Given the description of an element on the screen output the (x, y) to click on. 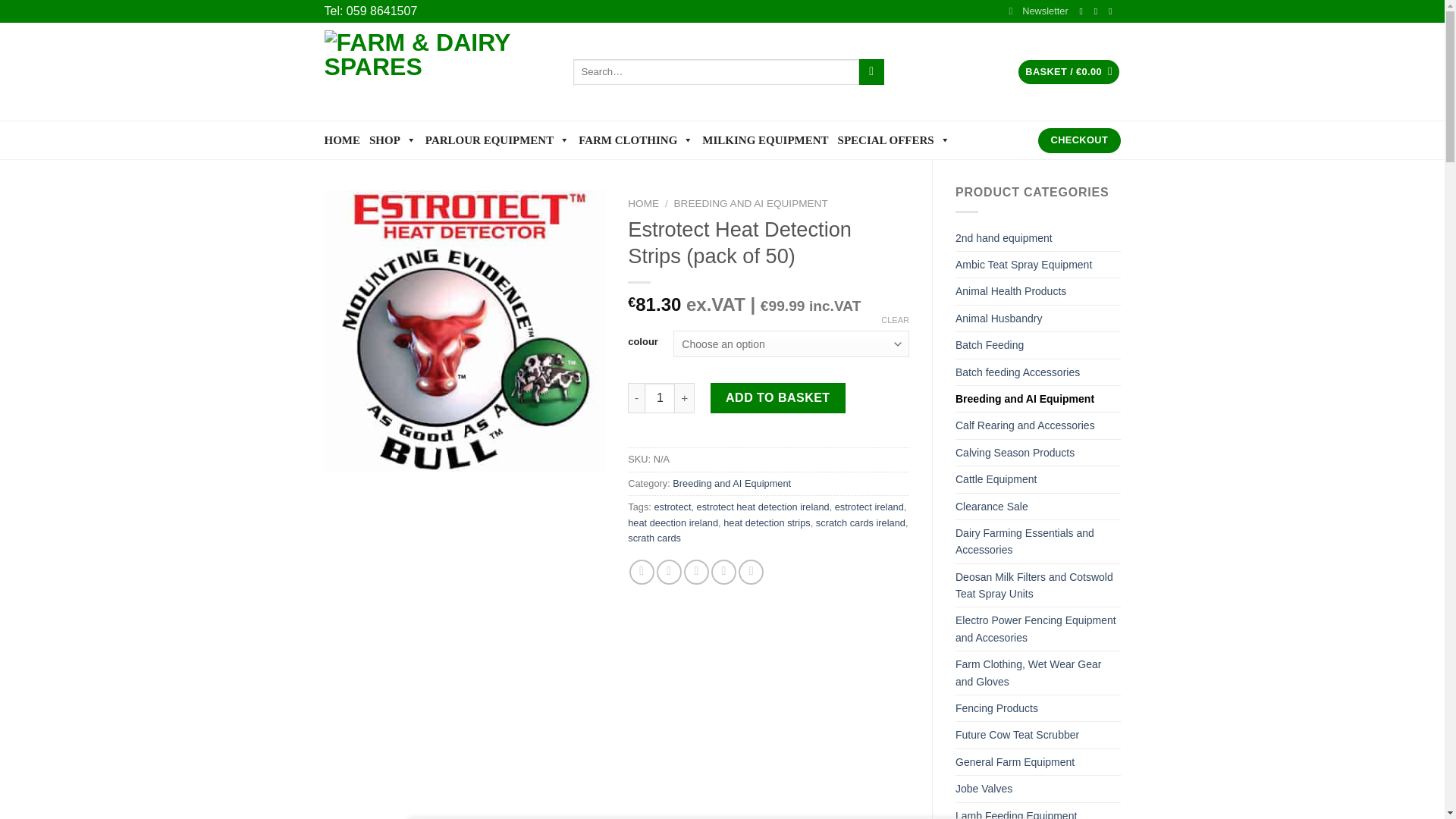
Share on Facebook (640, 571)
Pin on Pinterest (723, 571)
059 8641507 (381, 10)
Email to a Friend (696, 571)
1 (660, 398)
Newsletter (1038, 11)
Share on Twitter (668, 571)
Basket (1068, 72)
Share on LinkedIn (750, 571)
Search (871, 71)
